Given the description of an element on the screen output the (x, y) to click on. 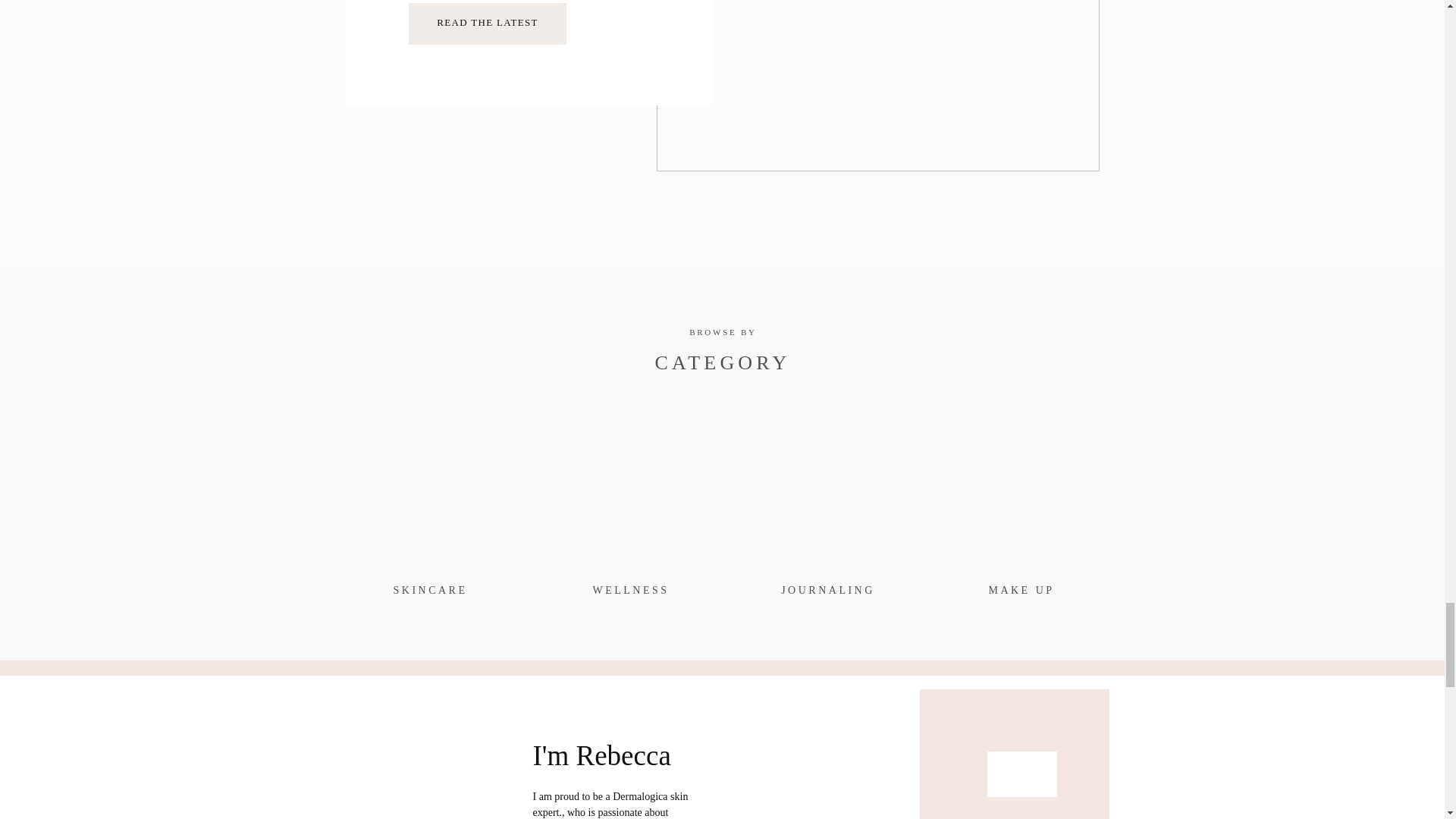
Discover My 5 Top Makeup Must-Haves (486, 24)
Discover My 5 Top Makeup Must-Haves (487, 22)
